Given the description of an element on the screen output the (x, y) to click on. 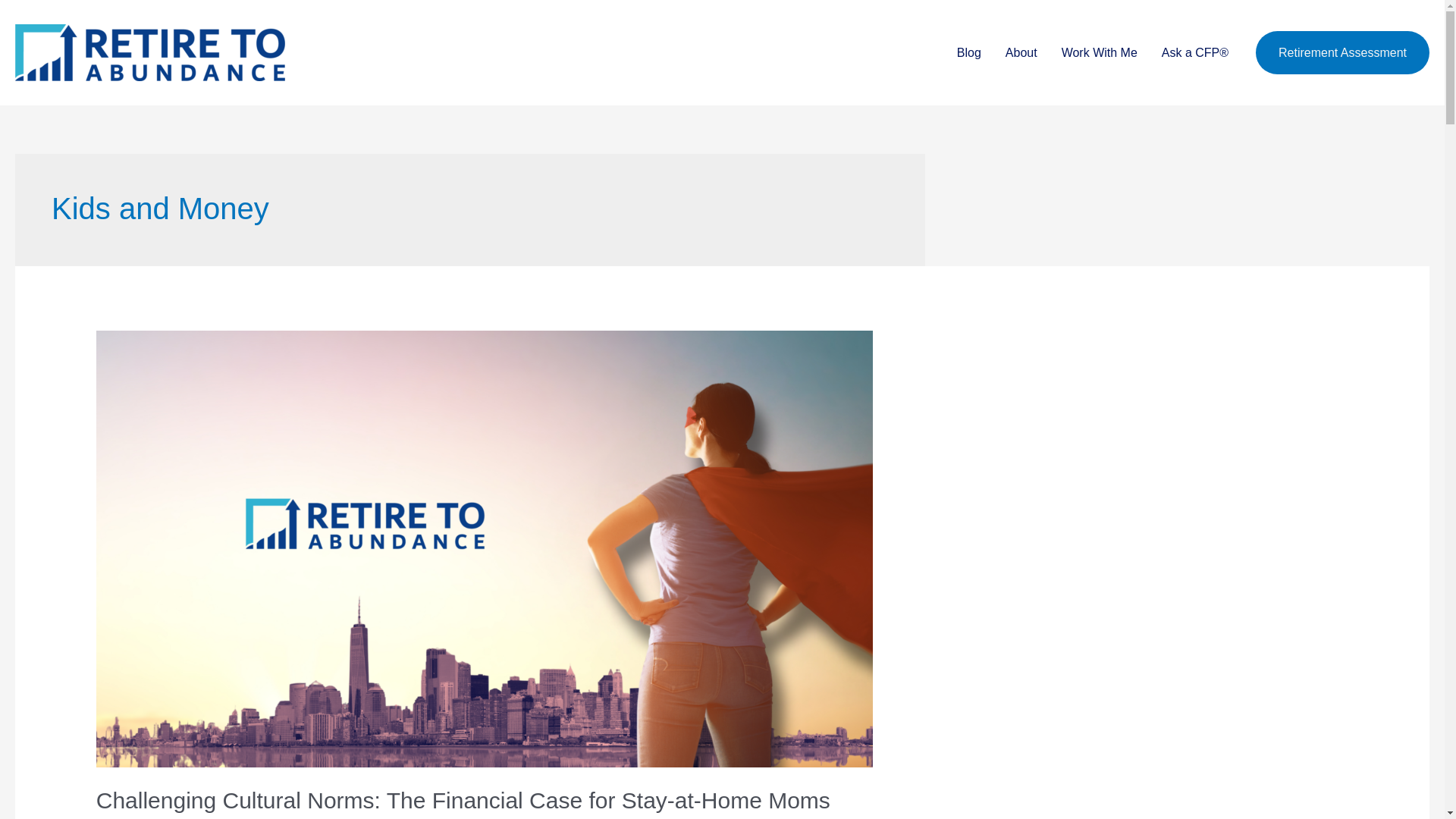
Retirement Assessment (1342, 53)
Work With Me (1099, 51)
Blog (968, 51)
About (1020, 51)
